Given the description of an element on the screen output the (x, y) to click on. 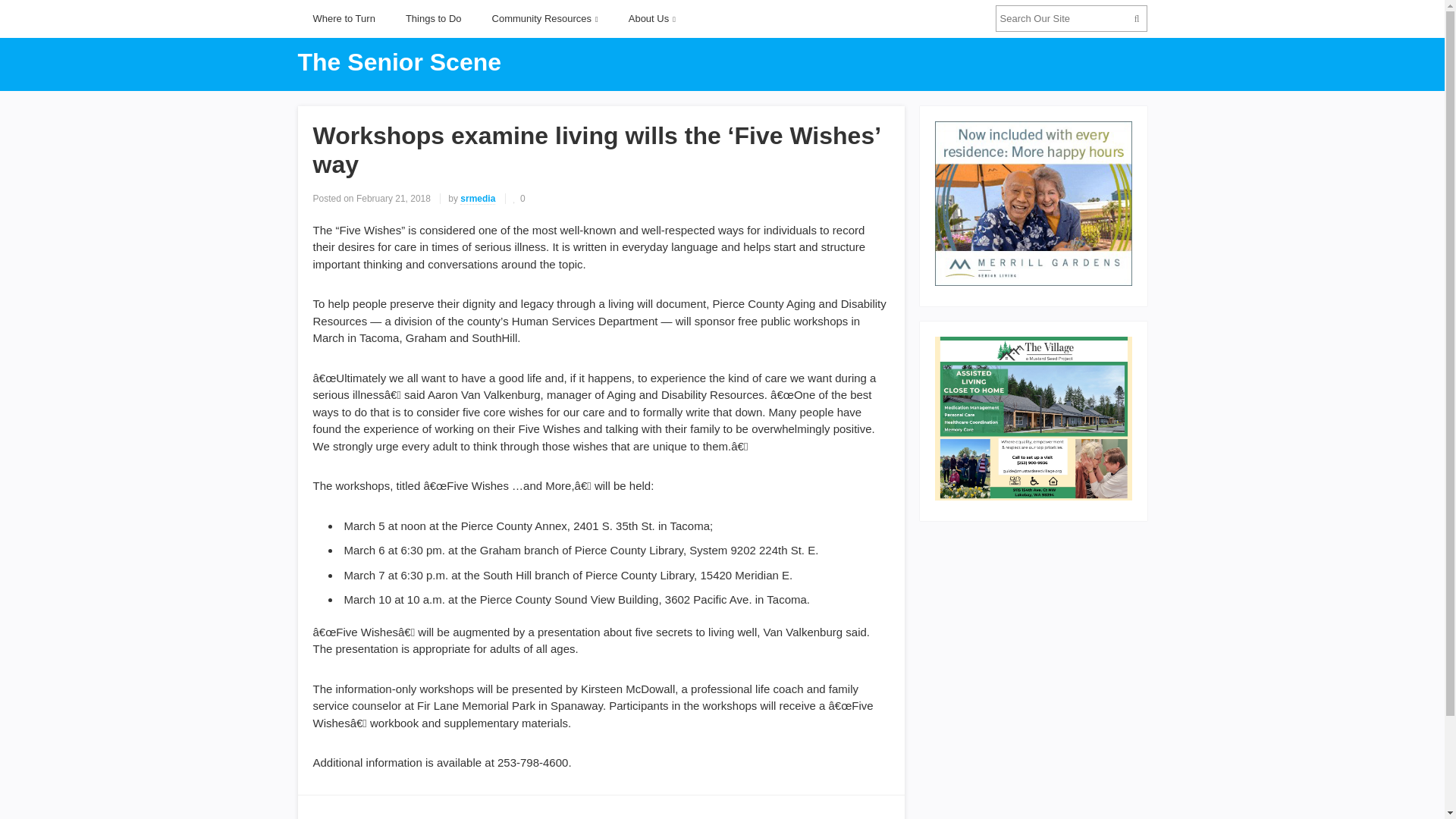
About Us (651, 18)
Things to Do (433, 18)
Community Resources (544, 18)
srmedia (477, 198)
0 (519, 198)
The Senior Scene (398, 62)
Like this (519, 198)
Where to Turn (343, 18)
